Given the description of an element on the screen output the (x, y) to click on. 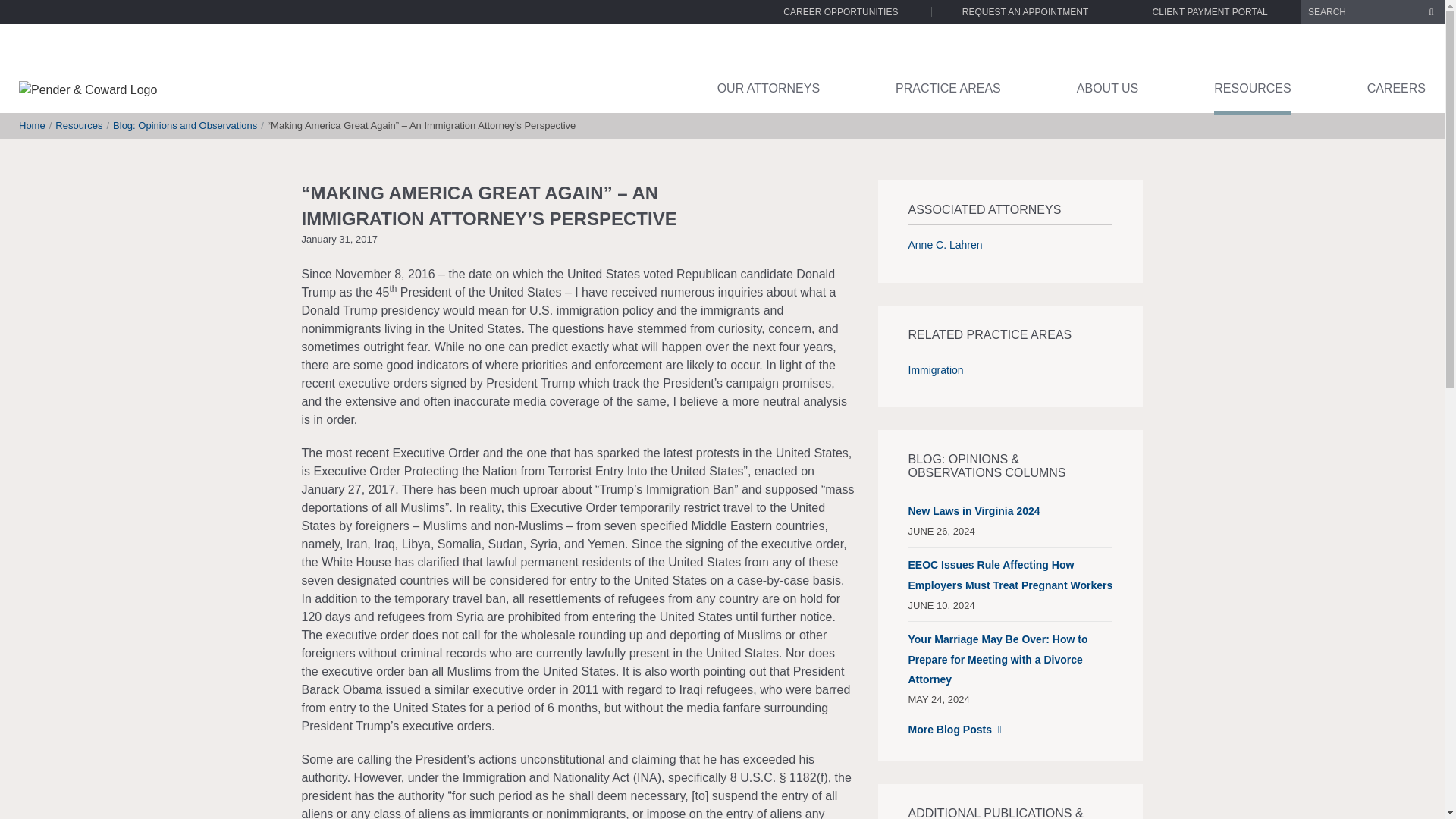
REQUEST AN APPOINTMENT (1024, 11)
CAREER OPPORTUNITIES (840, 11)
CLIENT PAYMENT PORTAL (1209, 11)
